Given the description of an element on the screen output the (x, y) to click on. 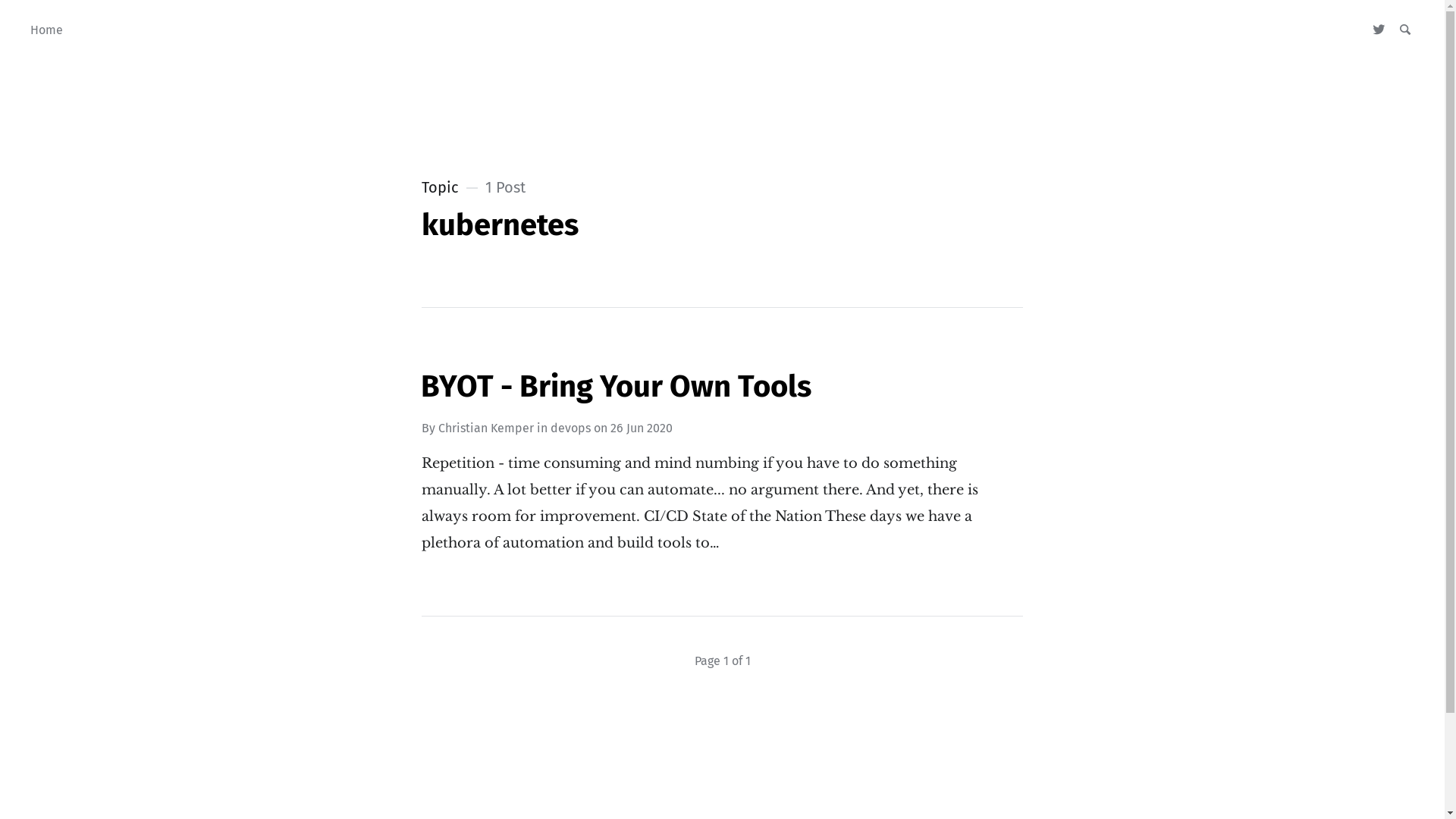
Home Element type: text (46, 30)
Search Element type: hover (1404, 30)
@ck3mp3r Element type: hover (1378, 30)
Christian Kemper Element type: text (485, 428)
BYOT - Bring Your Own Tools Element type: text (615, 386)
devops Element type: text (570, 428)
